Given the description of an element on the screen output the (x, y) to click on. 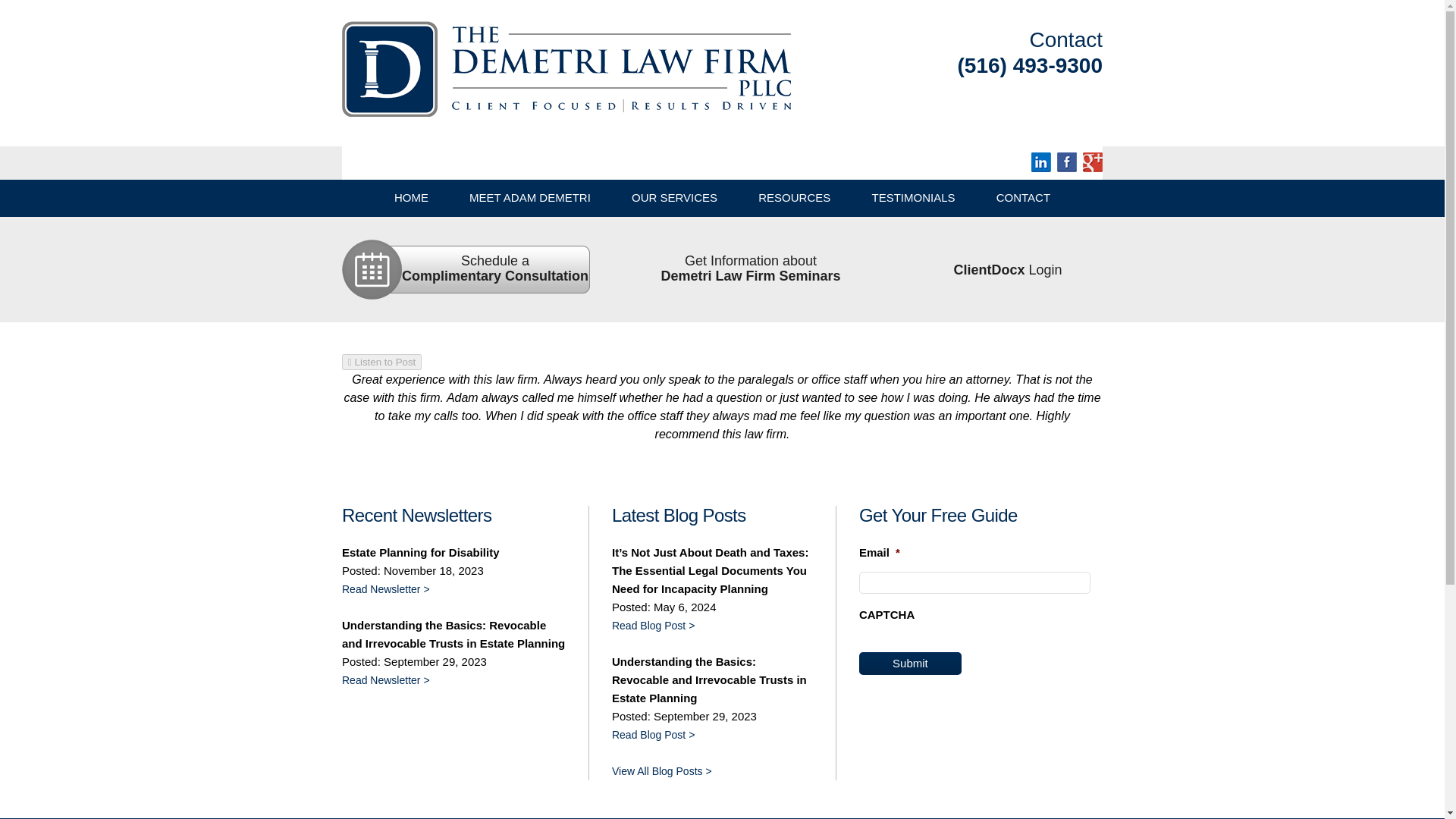
TESTIMONIALS (912, 197)
ClientDocx Login (1007, 269)
MEET ADAM DEMETRI (529, 197)
OUR SERVICES (674, 197)
RESOURCES (750, 268)
CONTACT (794, 197)
Submit (1023, 197)
HOME (909, 662)
